Given the description of an element on the screen output the (x, y) to click on. 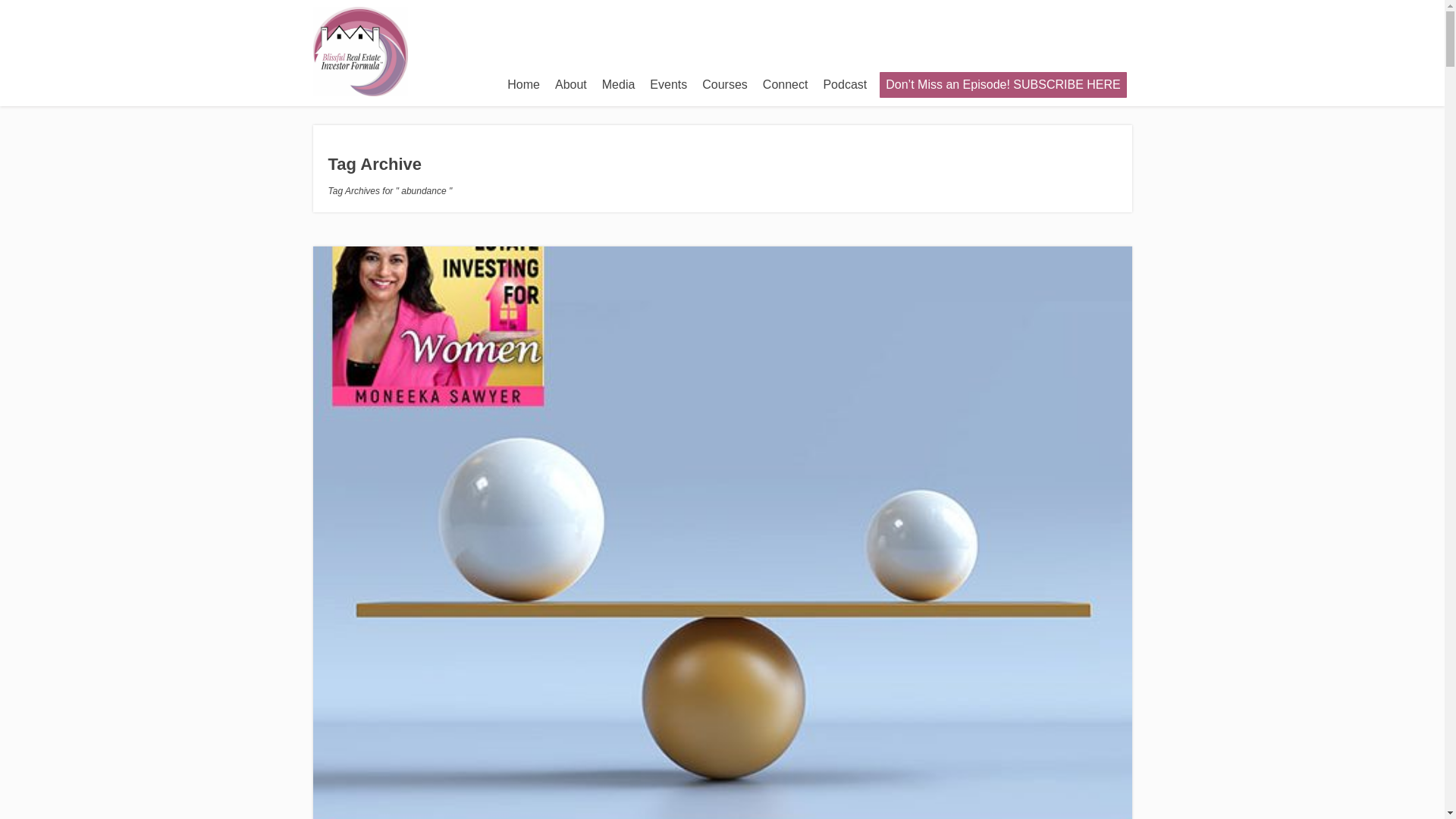
Media (618, 84)
Home (523, 84)
Podcast (845, 84)
Connect (785, 84)
Events (668, 84)
Courses (724, 84)
About (570, 84)
